Given the description of an element on the screen output the (x, y) to click on. 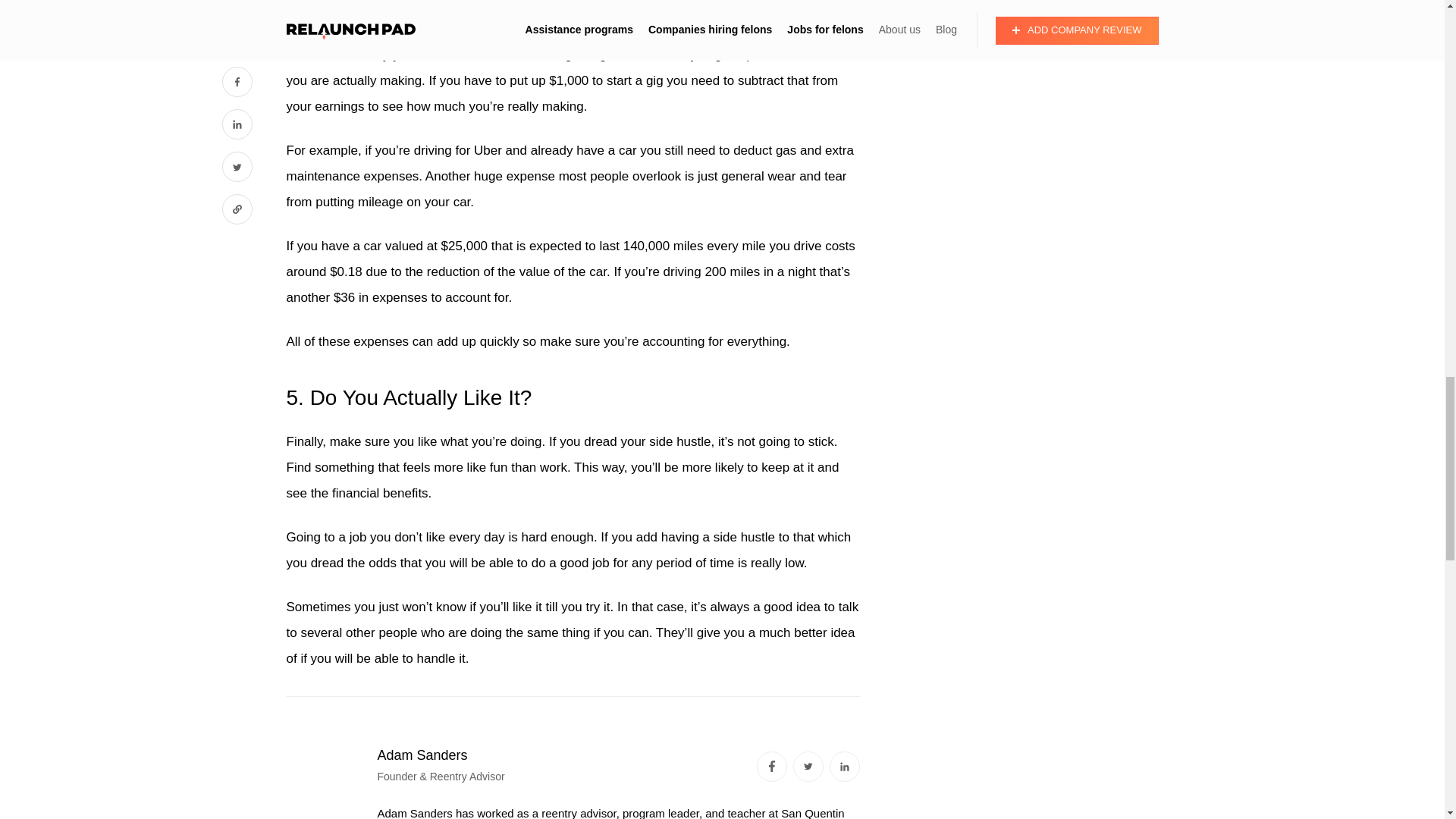
Adam Sanders (422, 754)
